Given the description of an element on the screen output the (x, y) to click on. 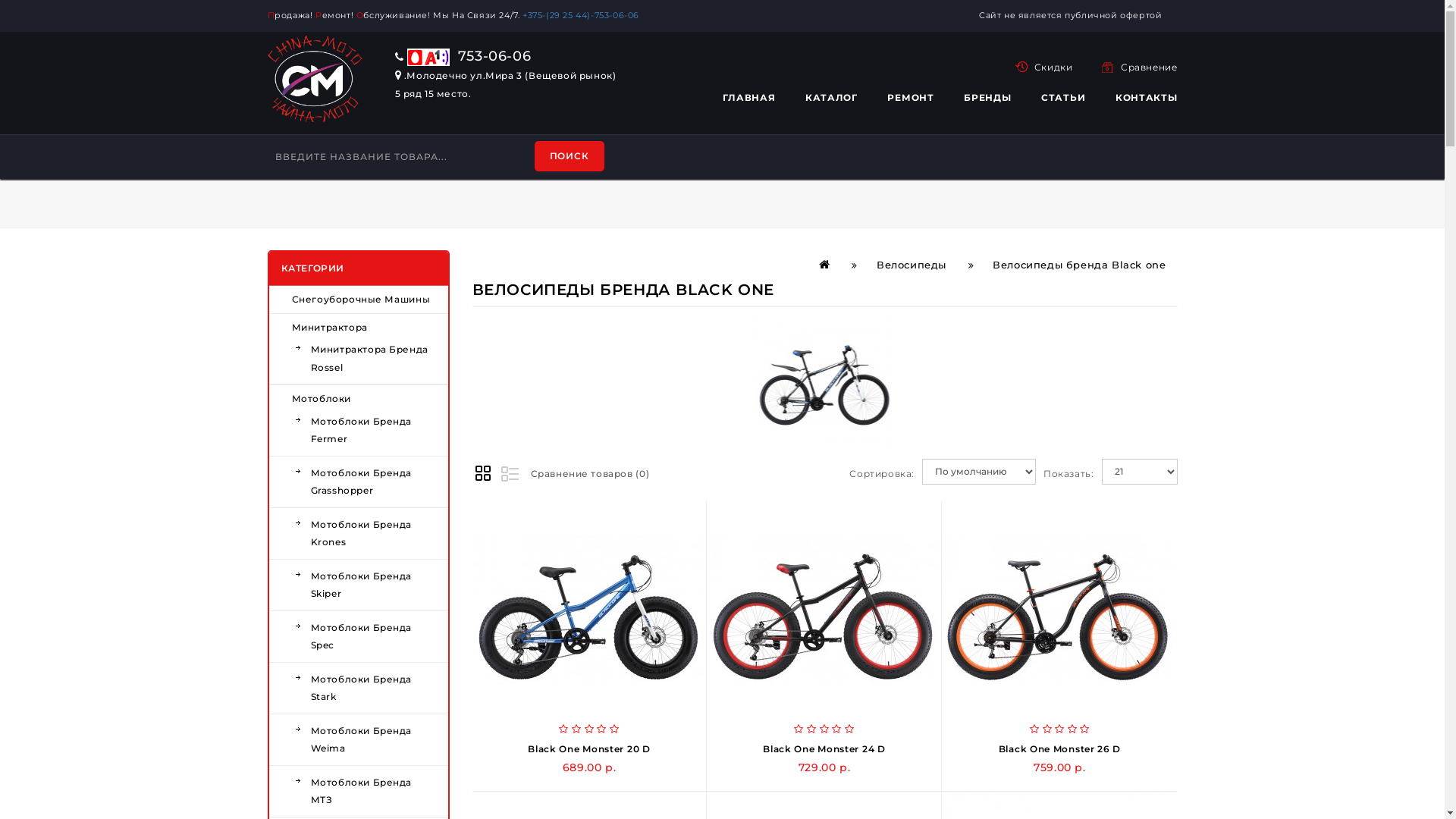
753-06-06 Element type: text (462, 55)
+375-(29 25 44)-753-06-06    Element type: text (582, 14)
Black One Monster 20 D Element type: hover (586, 608)
Black One Monster 26 D Element type: hover (1057, 608)
Black One Monster 20 D Element type: text (588, 748)
Black One Monster 24 D  Element type: hover (822, 608)
Black One Monster 26 D Element type: text (1059, 748)
Black One Monster 24 D Element type: text (823, 748)
